Given the description of an element on the screen output the (x, y) to click on. 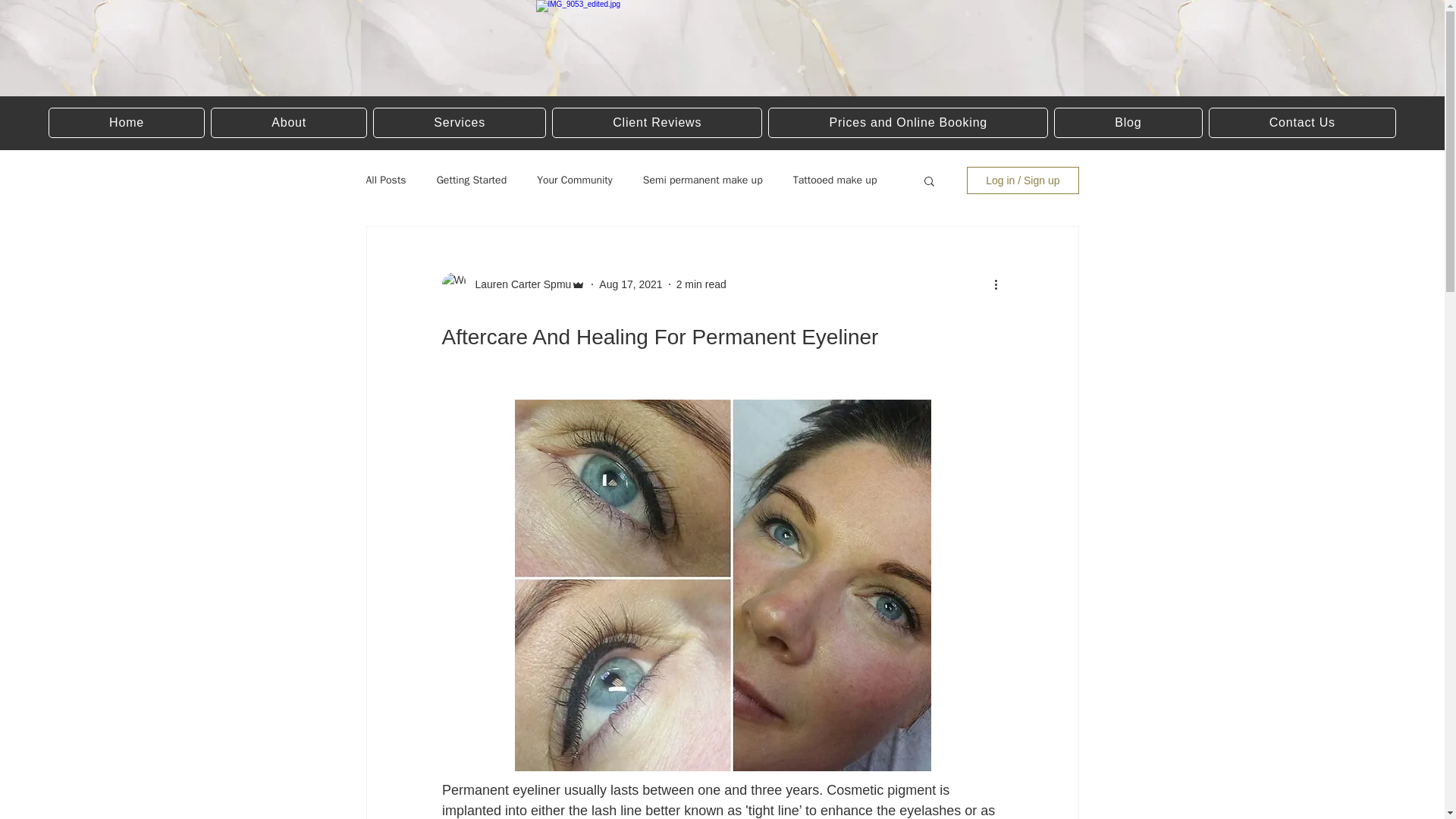
Home (126, 122)
Services (459, 122)
Semi permanent make up (702, 180)
Your Community (574, 180)
Getting Started (471, 180)
Aug 17, 2021 (630, 283)
Tattooed make up (835, 180)
About (288, 122)
Blog (1128, 122)
All Posts (385, 180)
Lauren Carter Spmu (517, 283)
Contact Us (1302, 122)
Client Reviews (656, 122)
2 min read (701, 283)
